Given the description of an element on the screen output the (x, y) to click on. 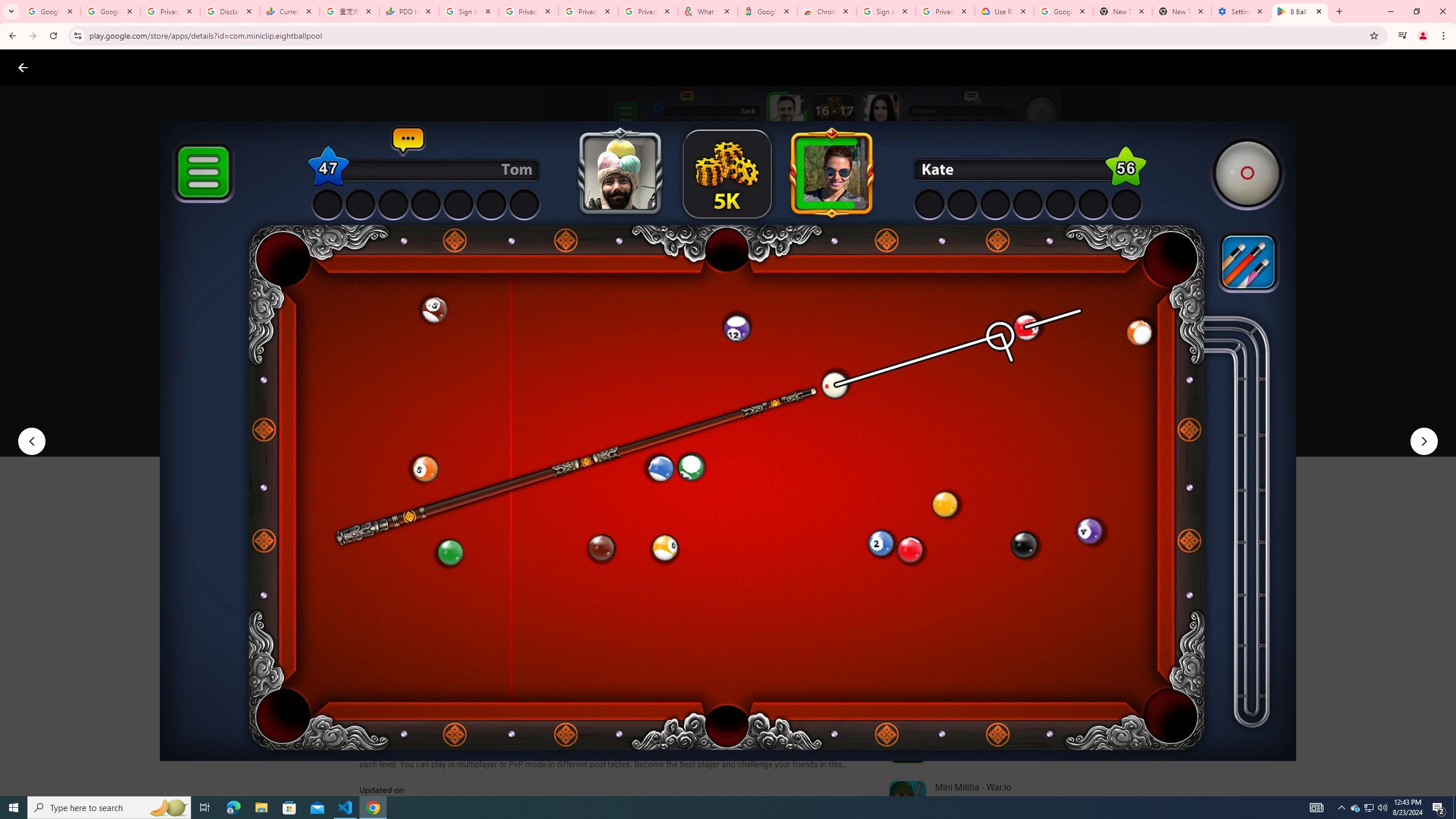
Miniclip.com (386, 333)
Games (141, 67)
Scroll Next (848, 563)
See more information on About this game (472, 681)
Google Workspace Admin Community (50, 11)
